Given the description of an element on the screen output the (x, y) to click on. 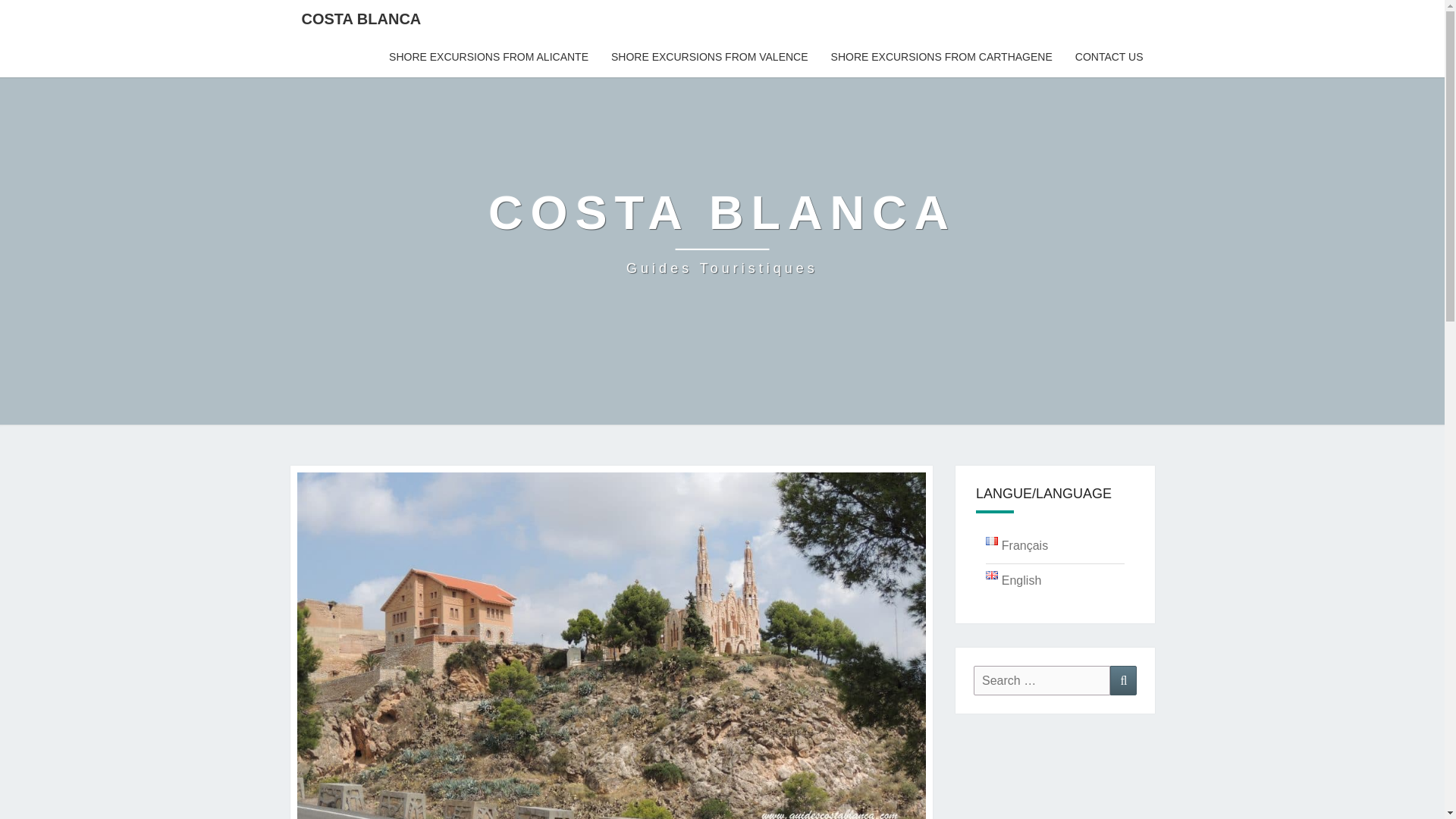
SHORE EXCURSIONS FROM ALICANTE (488, 56)
COSTA BLANCA (360, 18)
Search for: (1041, 680)
SHORE EXCURSIONS FROM CARTHAGENE (941, 56)
Search (1123, 680)
SHORE EXCURSIONS FROM VALENCE (721, 232)
Costa Blanca (709, 56)
CONTACT US (721, 232)
English (1109, 56)
